Given the description of an element on the screen output the (x, y) to click on. 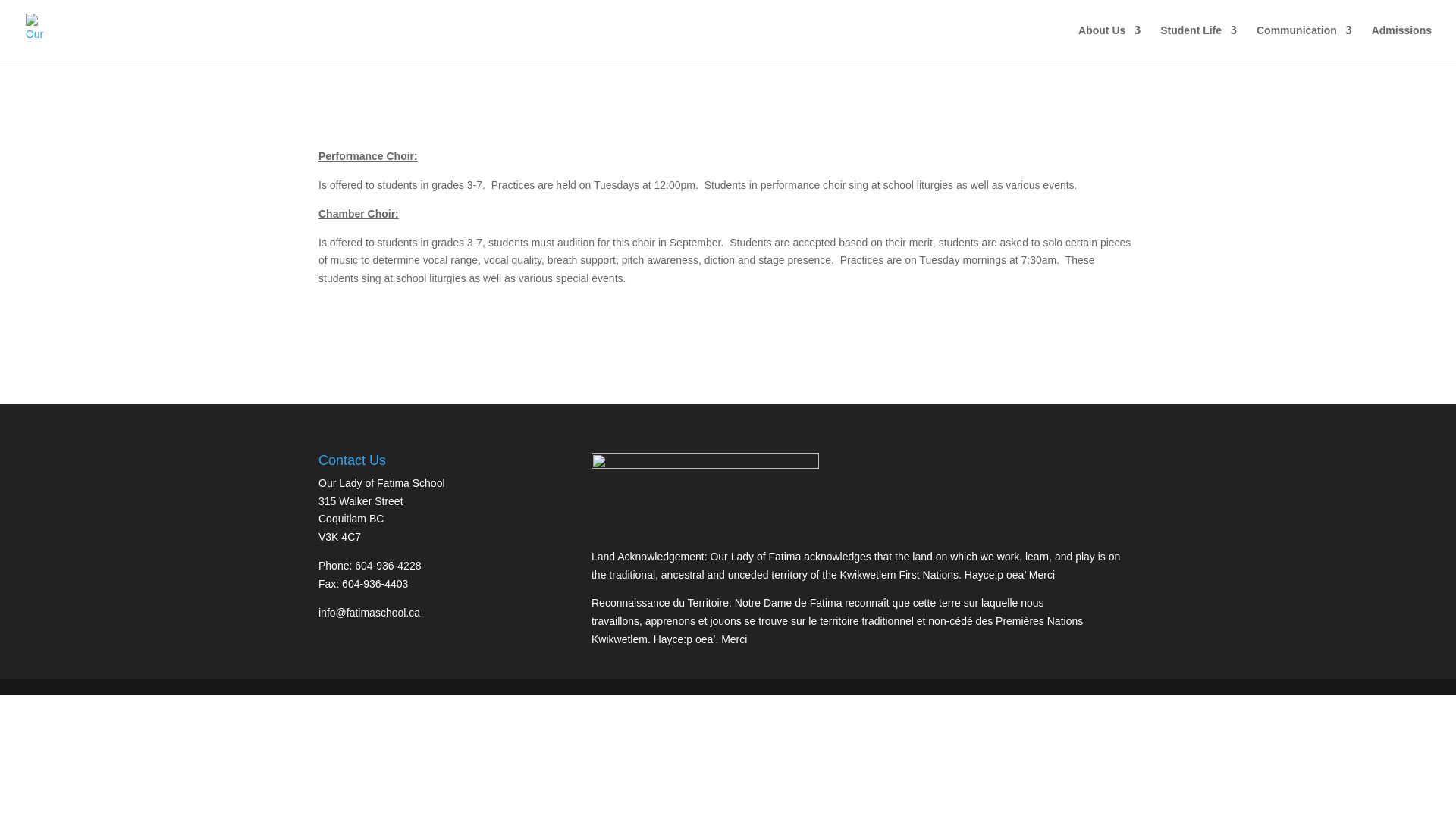
Student Life (1198, 42)
About Us (1109, 42)
Admissions (1401, 42)
Communication (1304, 42)
